Given the description of an element on the screen output the (x, y) to click on. 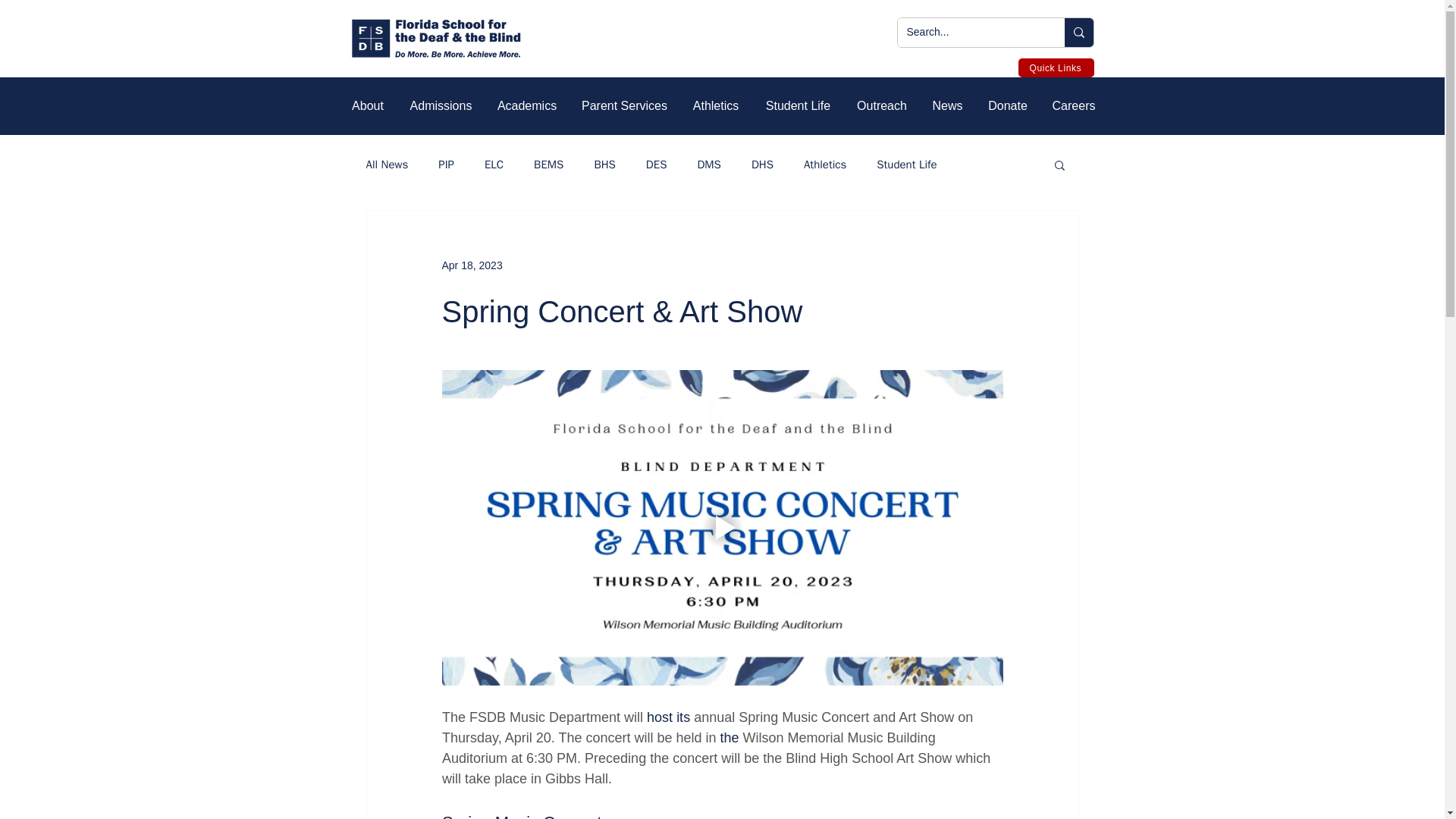
BHS (604, 164)
DMS (708, 164)
Academics (526, 105)
DHS (762, 164)
DES (656, 164)
Quick Links (1055, 67)
All News (386, 164)
Athletics (824, 164)
Apr 18, 2023 (471, 265)
PIP (446, 164)
